Given the description of an element on the screen output the (x, y) to click on. 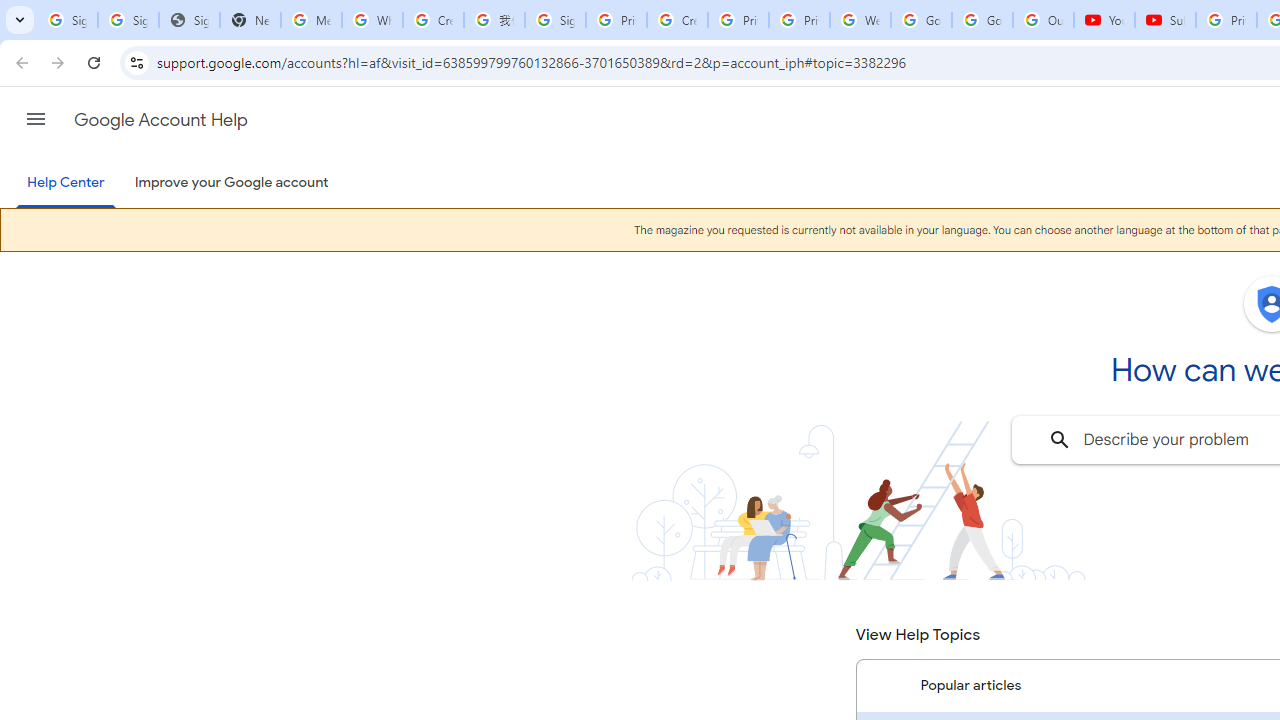
Google Account (982, 20)
Who is my administrator? - Google Account Help (372, 20)
Sign in - Google Accounts (128, 20)
Help Center (65, 183)
Improve your Google account (231, 183)
Sign In - USA TODAY (189, 20)
